Given the description of an element on the screen output the (x, y) to click on. 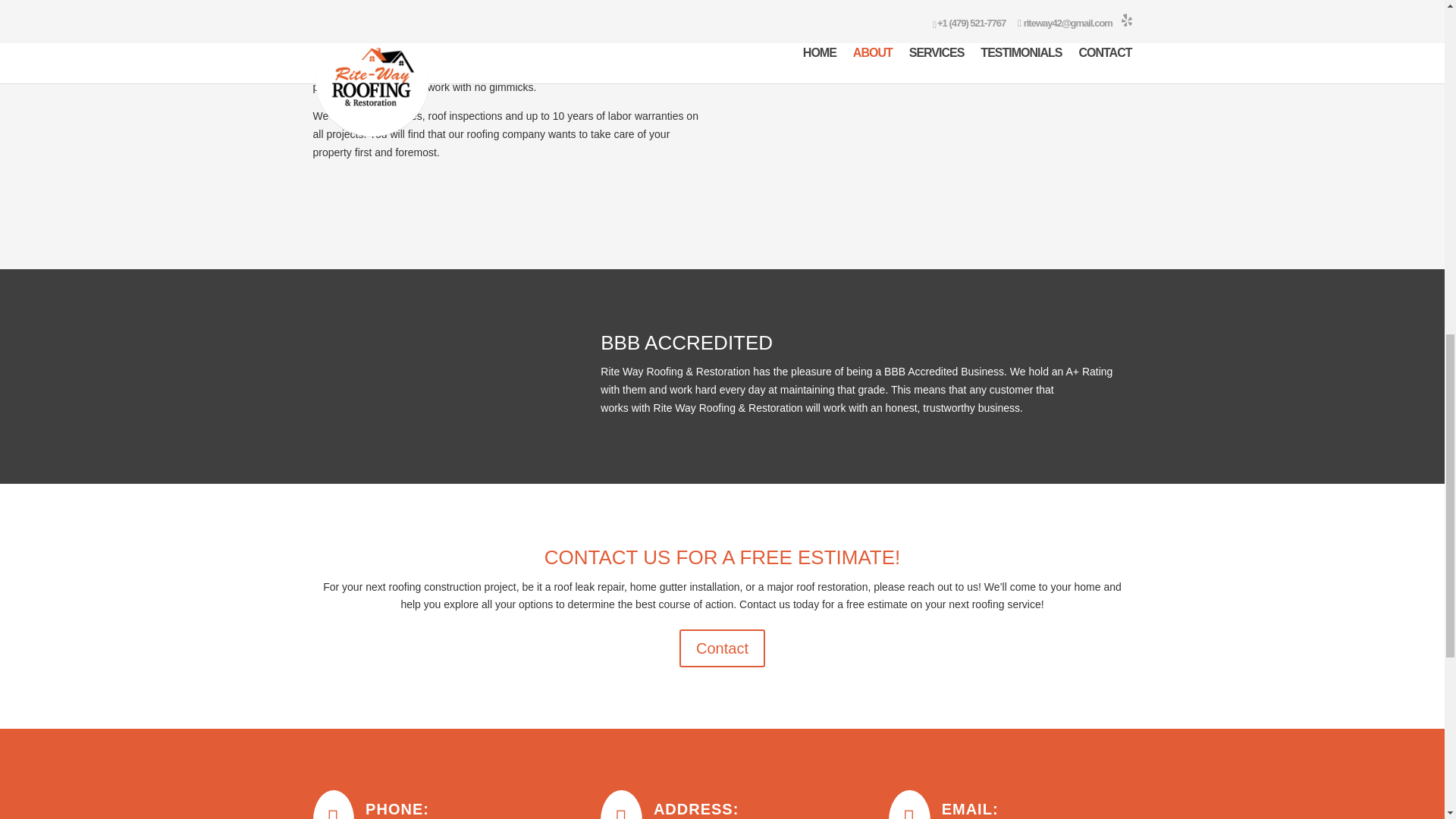
Contact (722, 648)
